Given the description of an element on the screen output the (x, y) to click on. 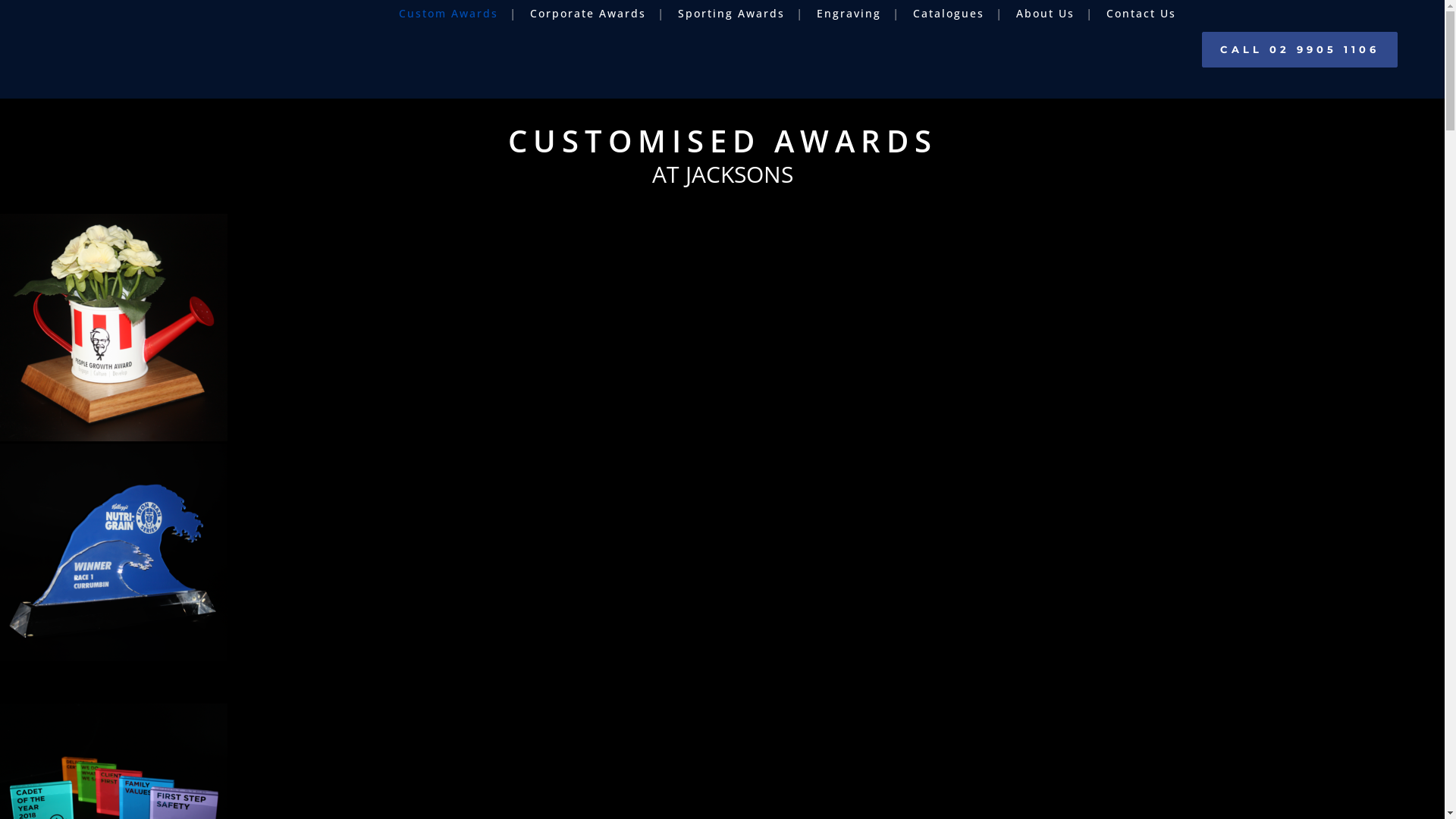
Engraving Element type: text (848, 13)
Catalogues Element type: text (948, 13)
CALL 02 9905 1106 Element type: text (1299, 49)
Contact Us Element type: text (1141, 13)
Corporate Awards Element type: text (587, 13)
Custom Awards Element type: text (448, 13)
Sporting Awards Element type: text (731, 13)
About Us Element type: text (1045, 13)
